Given the description of an element on the screen output the (x, y) to click on. 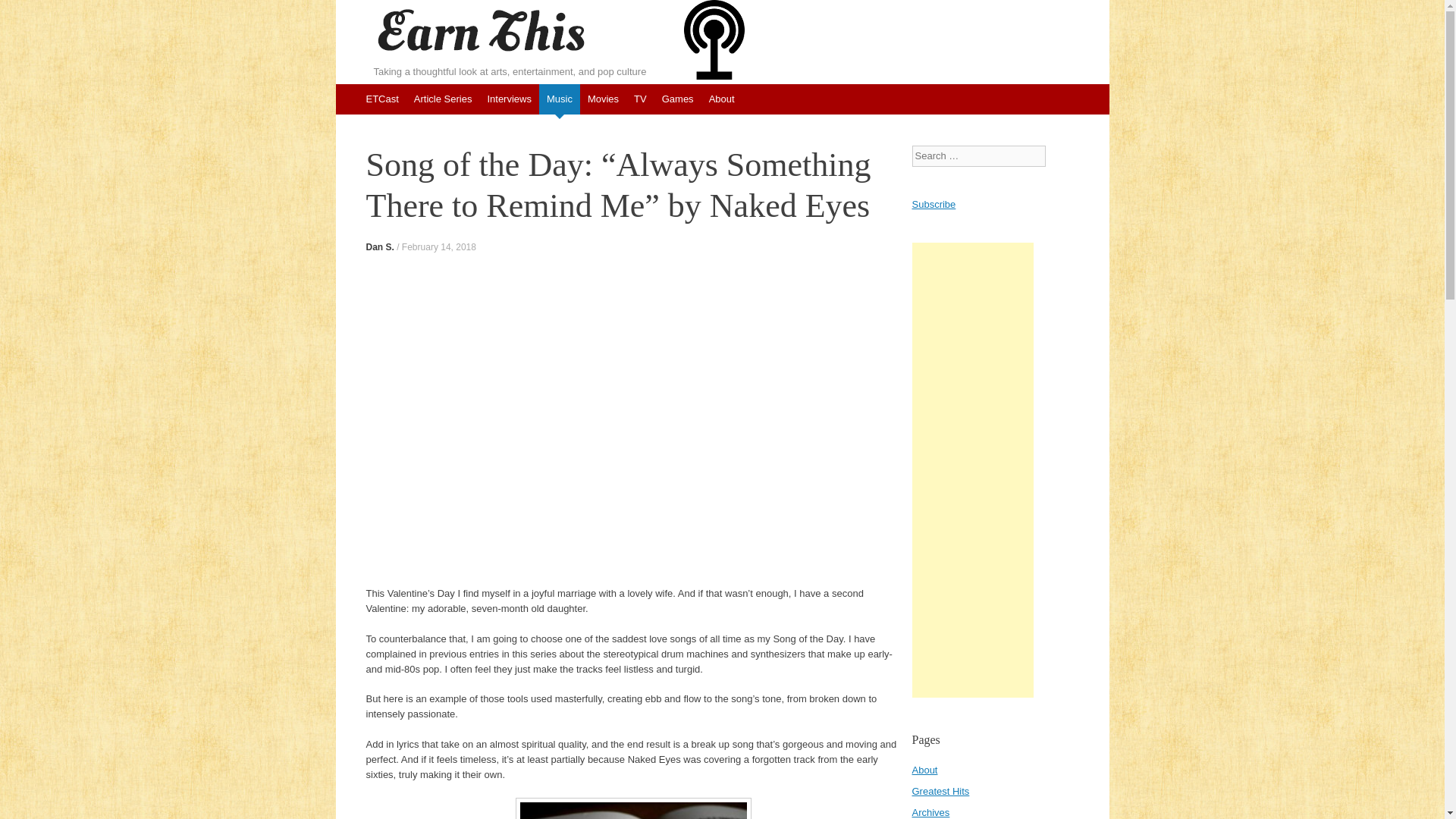
Skip to content (342, 91)
Games (677, 99)
Interviews (508, 99)
Earn This (480, 32)
TV (639, 99)
Article Series (443, 99)
February 14, 2018 (438, 246)
About (721, 99)
Movies (602, 99)
ETCast (382, 99)
Dan S. (379, 246)
Music (558, 99)
